Given the description of an element on the screen output the (x, y) to click on. 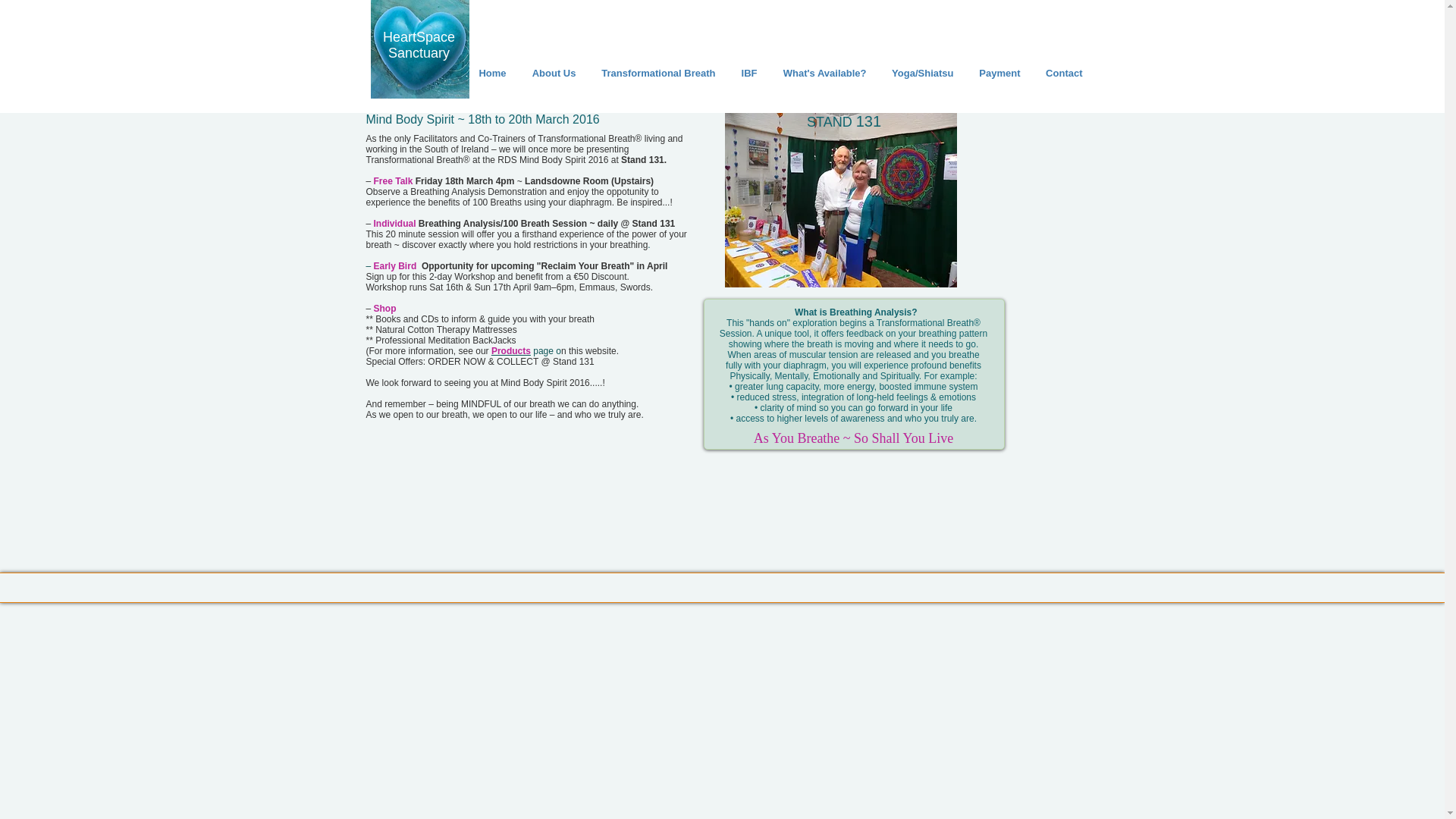
Transformational Breath (656, 72)
Home (490, 72)
IBF (747, 72)
HeartSpace Sanctuary, Ireland (418, 49)
What's Available? (822, 72)
About Us (551, 72)
Products (511, 350)
Contact (1061, 72)
Payment (996, 72)
